Given the description of an element on the screen output the (x, y) to click on. 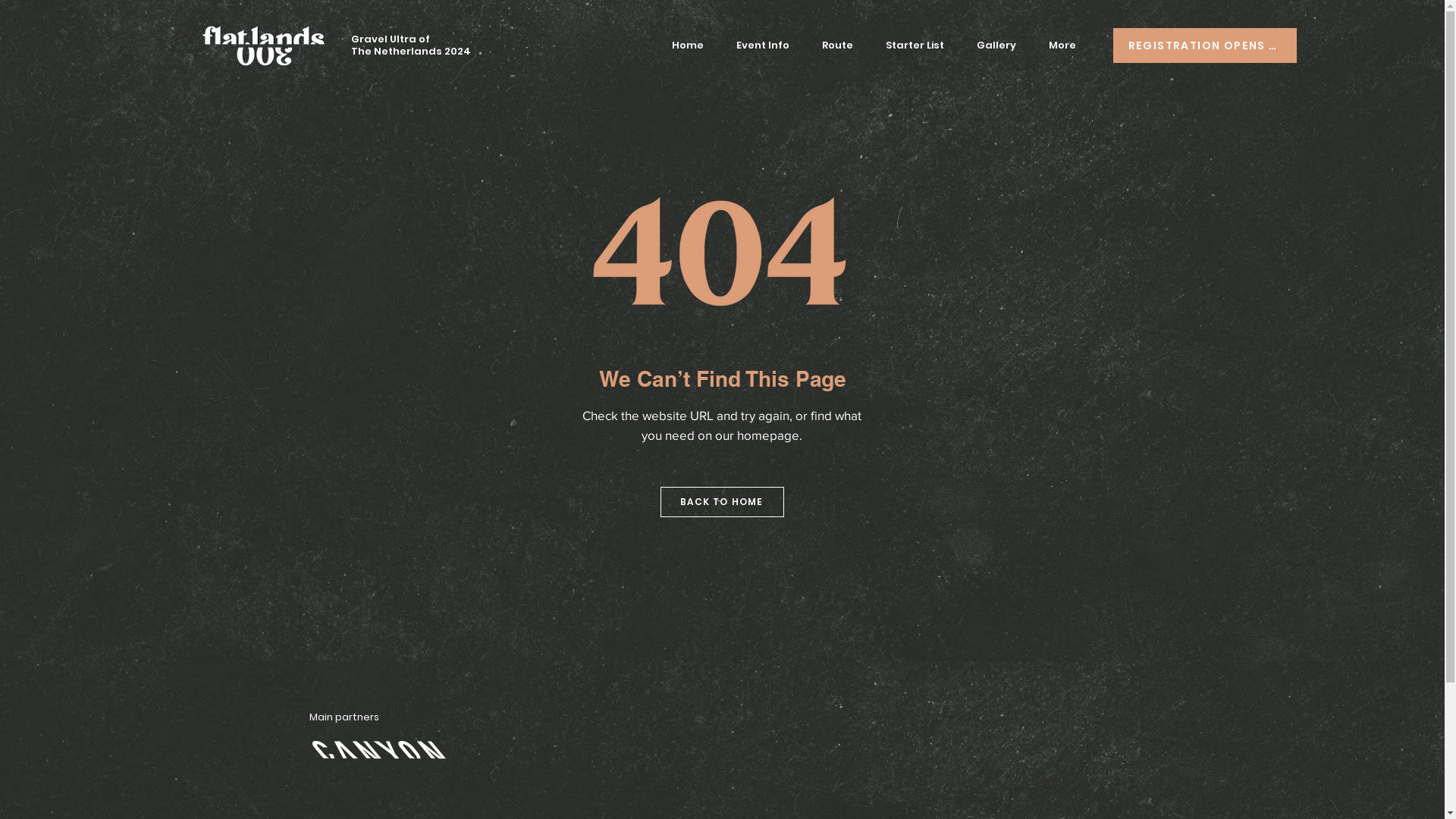
Event Info Element type: text (763, 45)
REGISTRATION OPENS EARLY 2024 Element type: text (1204, 45)
Home Element type: text (687, 45)
Starter List Element type: text (914, 45)
Route Element type: text (837, 45)
Gallery Element type: text (996, 45)
BACK TO HOME Element type: text (721, 501)
